Given the description of an element on the screen output the (x, y) to click on. 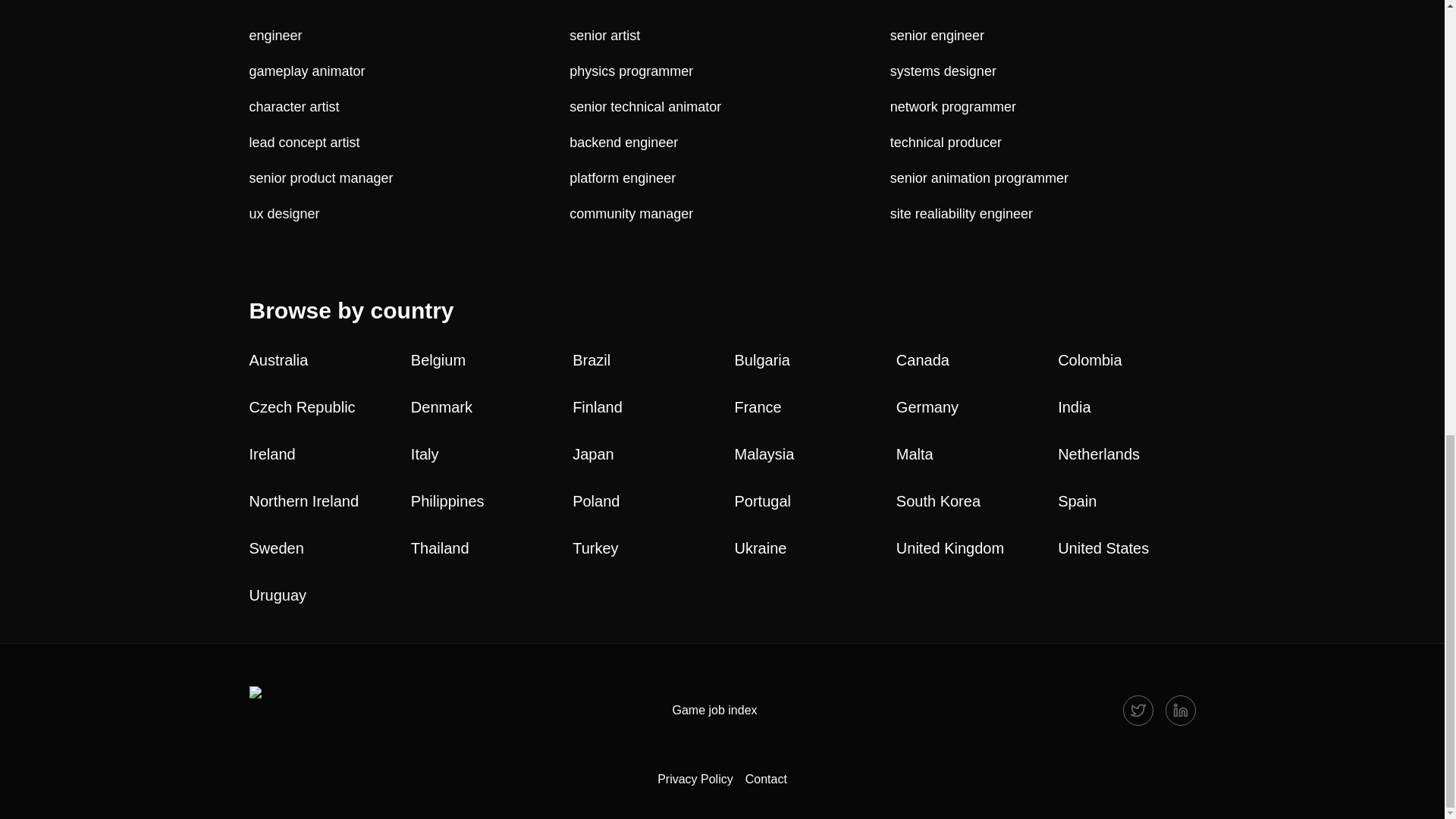
engineer (401, 35)
backend engineer (722, 142)
senior product manager (401, 178)
community manager (722, 213)
lead concept artist (401, 142)
character artist (401, 107)
senior engineer (1042, 35)
physics programmer (722, 71)
ux designer (401, 213)
senior artist (722, 35)
